Given the description of an element on the screen output the (x, y) to click on. 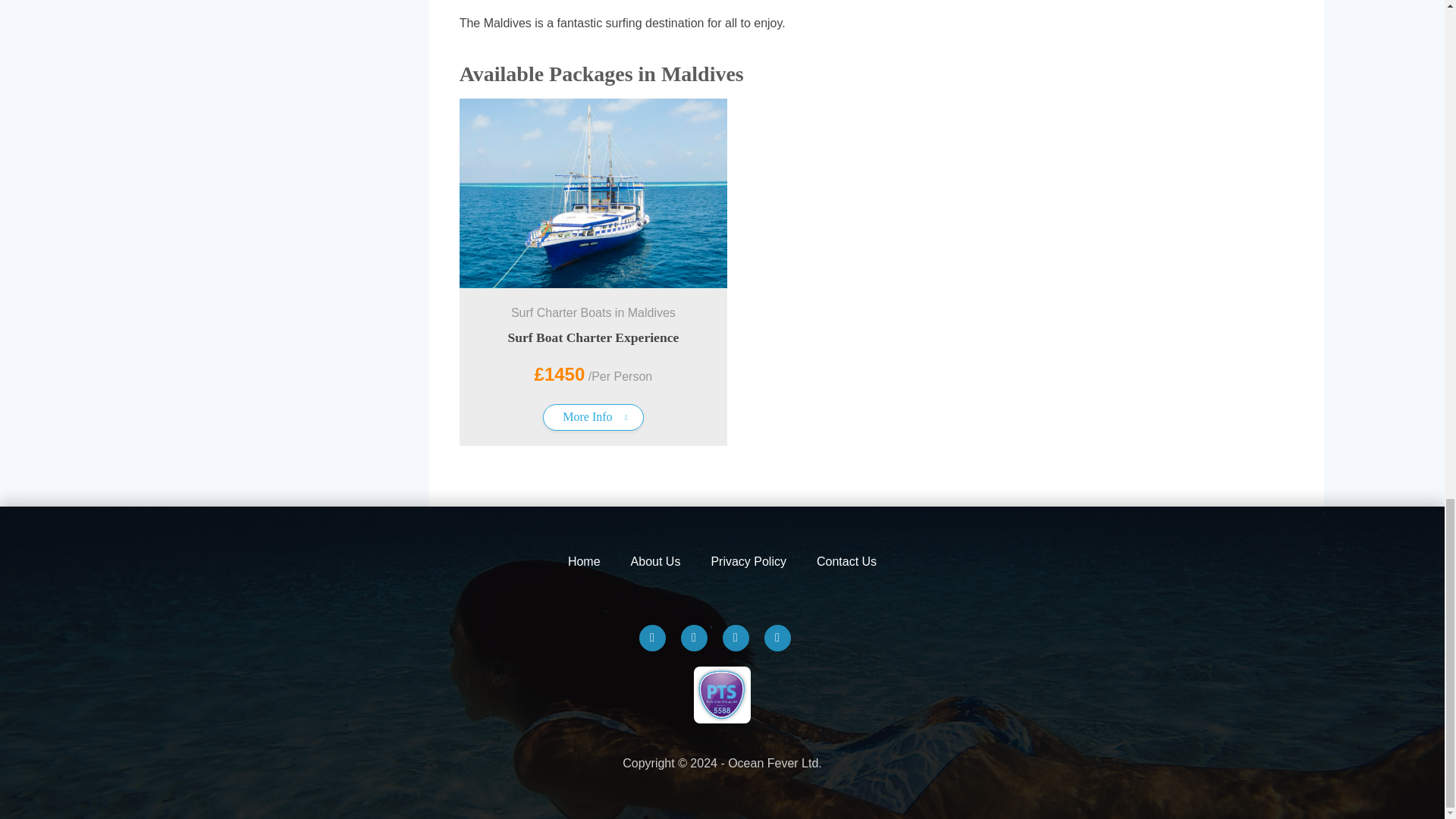
About Us (655, 561)
Home (583, 561)
More Info (593, 417)
Contact Us (846, 561)
Privacy Policy (748, 561)
Surf Boat Charter Experience (592, 337)
Surf Boat Charter Experience (592, 337)
